Given the description of an element on the screen output the (x, y) to click on. 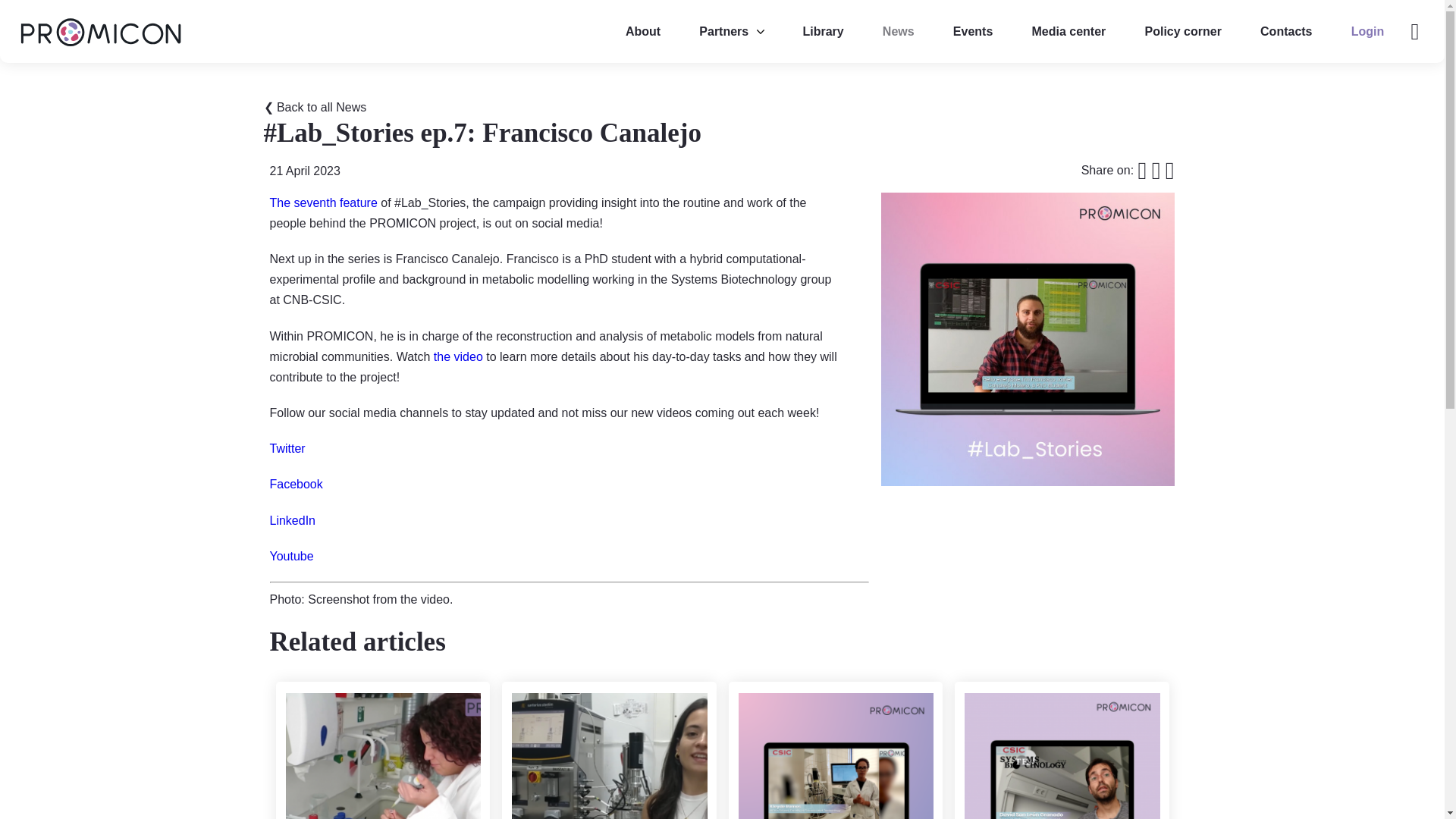
Login (1367, 30)
the video (458, 356)
Contacts (1285, 30)
Twitter (287, 448)
Media center (1068, 30)
About (642, 30)
Policy corner (1182, 30)
Events (972, 30)
News (898, 30)
LinkedIn (292, 520)
